Given the description of an element on the screen output the (x, y) to click on. 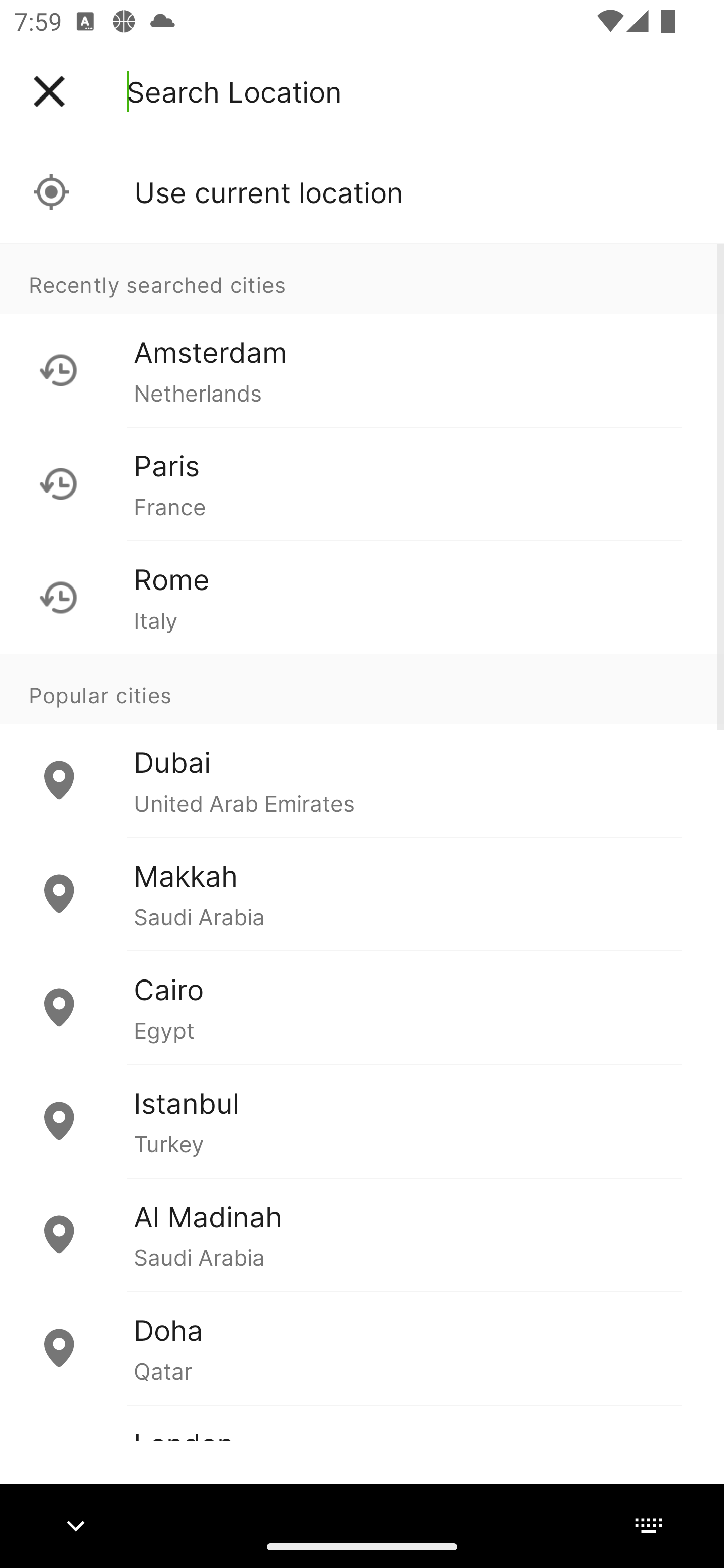
Search Location (234, 91)
Use current location (362, 192)
Recently searched cities Amsterdam Netherlands (362, 334)
Recently searched cities (362, 278)
Paris France (362, 483)
Rome Italy (362, 596)
Popular cities Dubai United Arab Emirates (362, 745)
Popular cities (362, 688)
Makkah Saudi Arabia (362, 893)
Cairo Egypt (362, 1007)
Istanbul Turkey (362, 1120)
Al Madinah Saudi Arabia (362, 1233)
Doha Qatar (362, 1347)
